Given the description of an element on the screen output the (x, y) to click on. 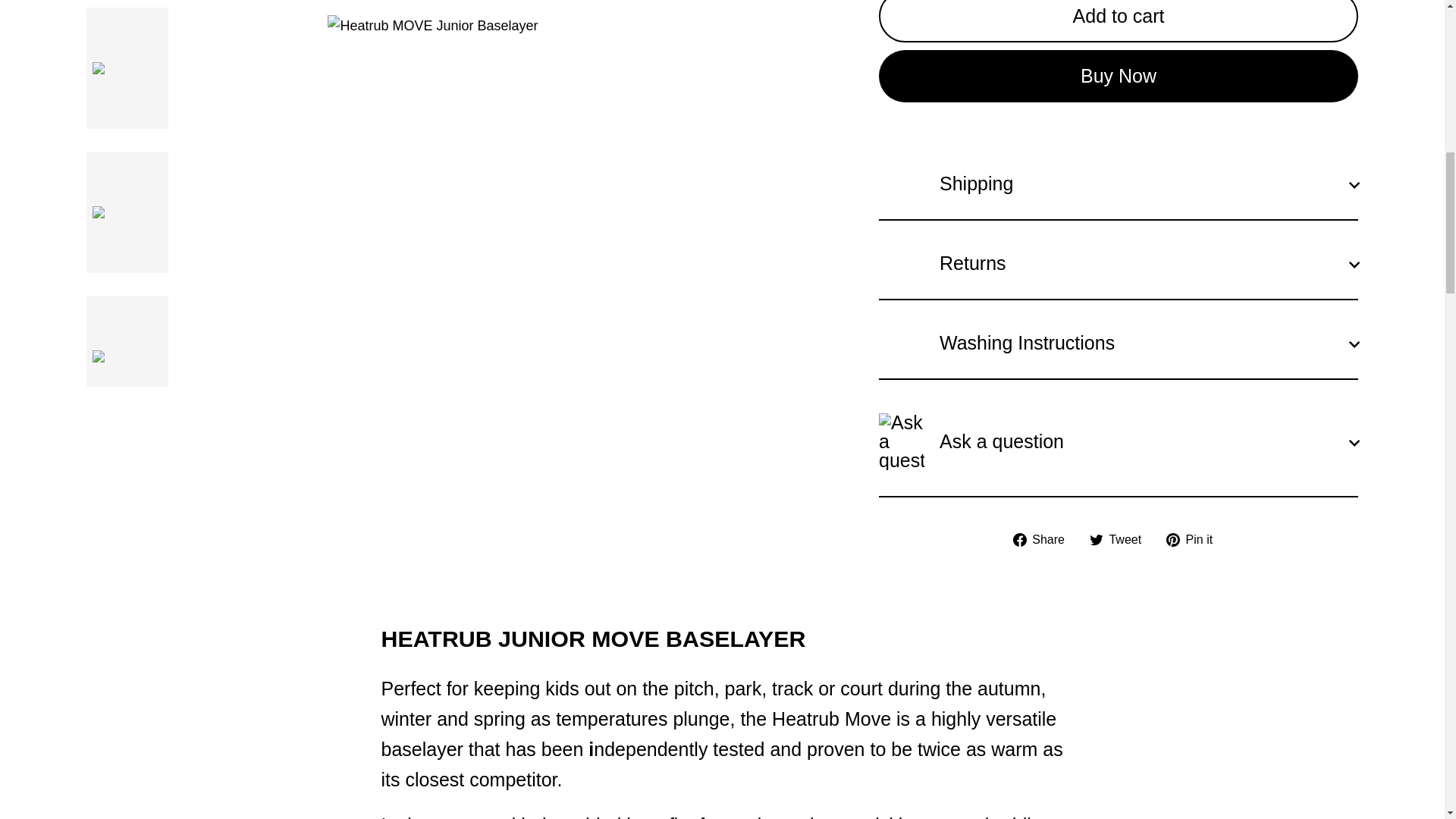
Pin on Pinterest (1195, 539)
Share on Facebook (1044, 539)
Tweet on Twitter (1121, 539)
